Given the description of an element on the screen output the (x, y) to click on. 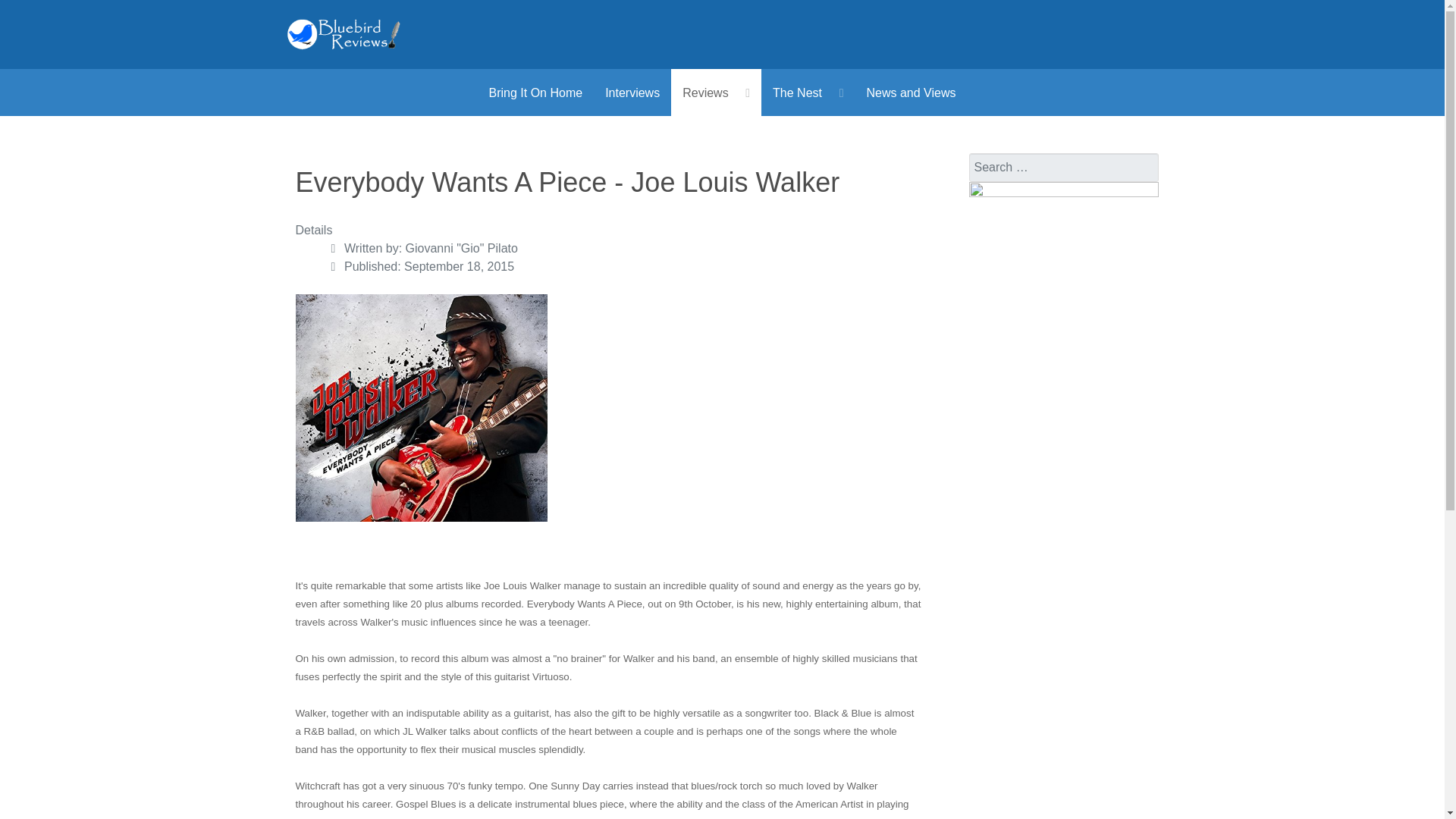
News and Views (910, 92)
Interviews (632, 92)
Reviews (716, 92)
Bluebird Reviews (343, 33)
Bring It On Home (535, 92)
Bring It On Home (535, 92)
The Nest (807, 92)
